Given the description of an element on the screen output the (x, y) to click on. 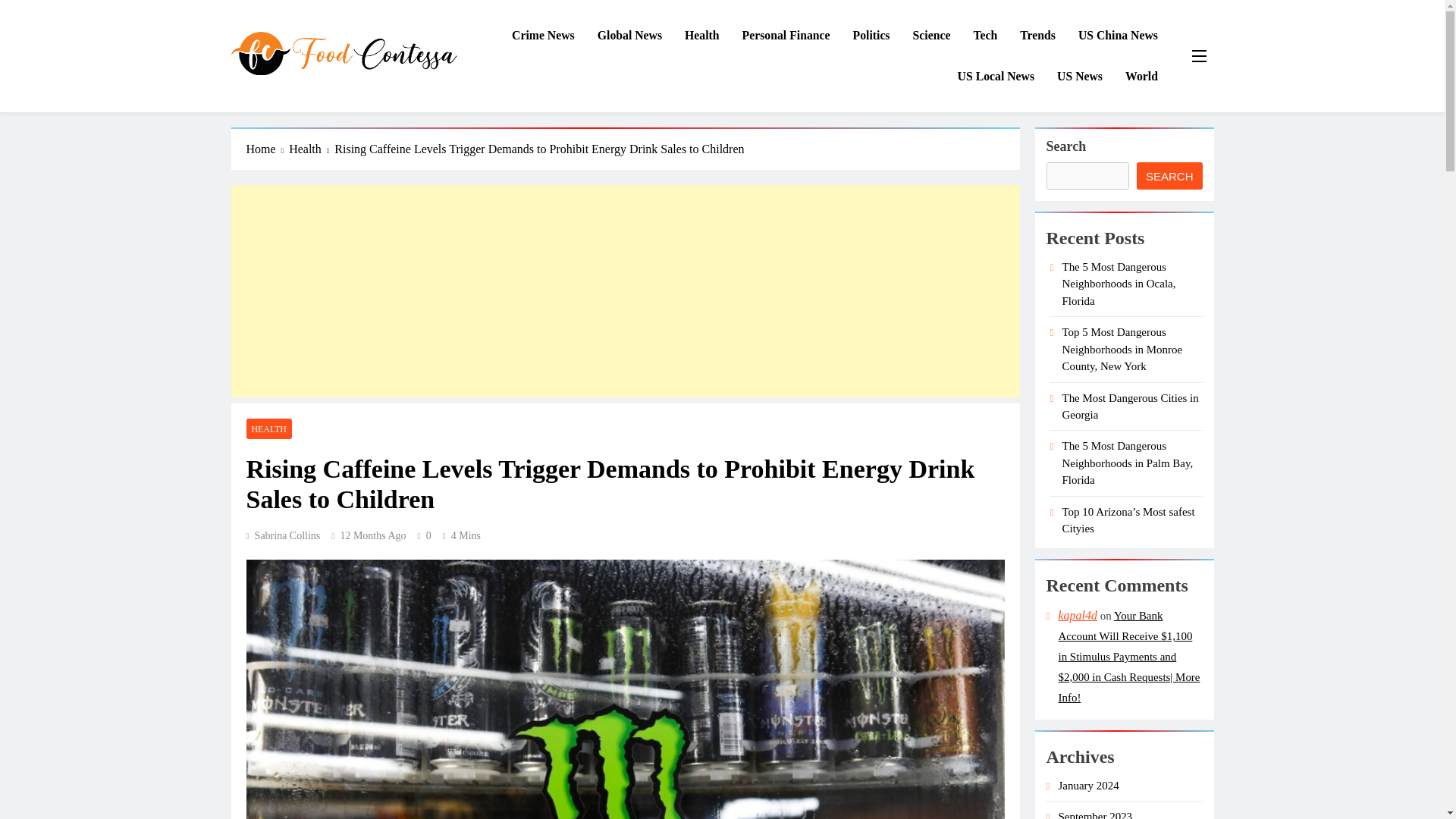
Personal Finance (785, 35)
Crime News (543, 35)
US News (1079, 76)
Science (931, 35)
US Local News (996, 76)
Tech (984, 35)
Trends (1038, 35)
Health (701, 35)
Politics (871, 35)
